Given the description of an element on the screen output the (x, y) to click on. 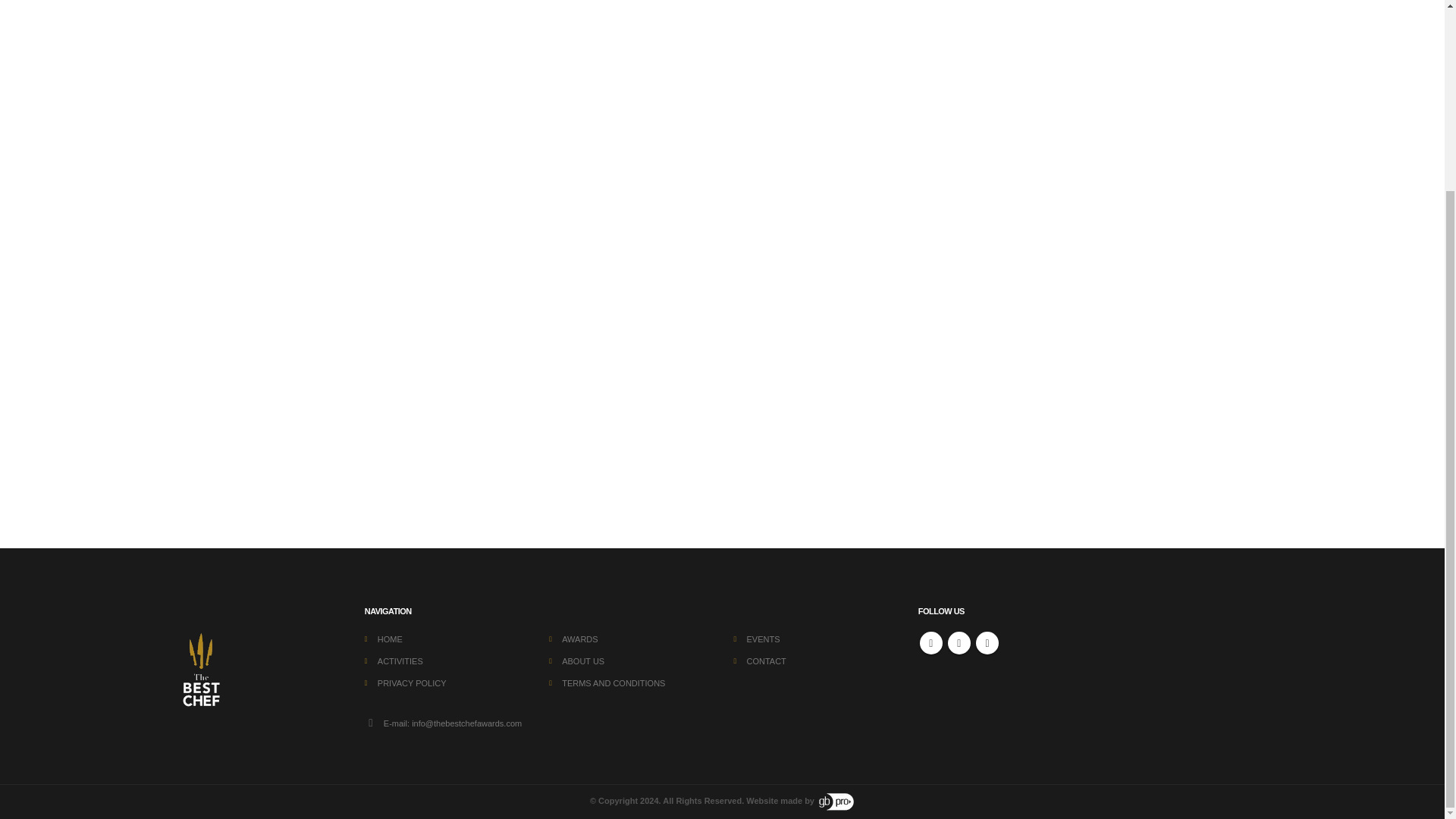
Instagram (986, 642)
Youtube (959, 642)
Facebook (931, 642)
